Given the description of an element on the screen output the (x, y) to click on. 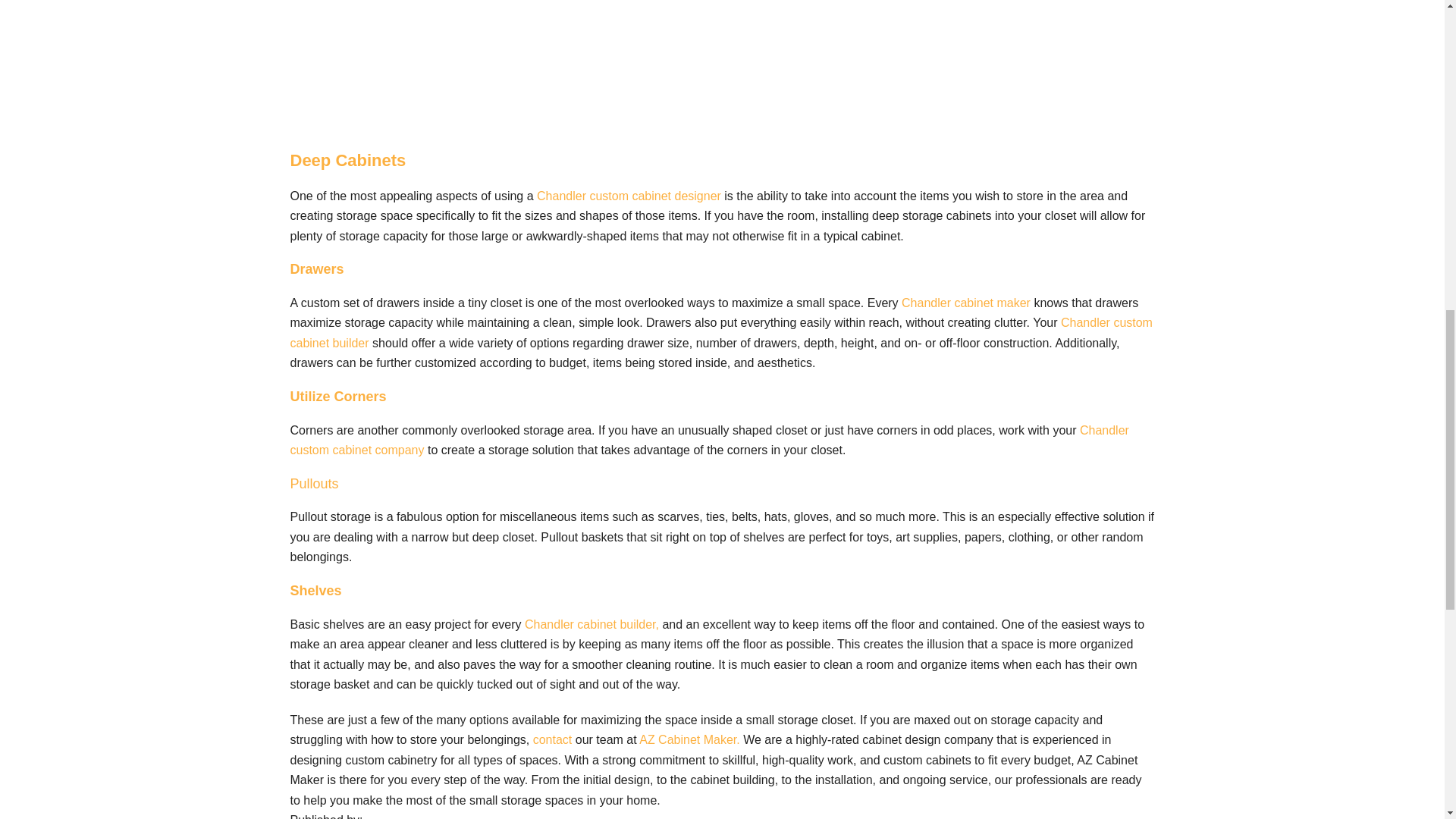
Chandler custom cabinet builder (720, 332)
contact (552, 739)
AZ Cabinet Maker. (689, 739)
Chandler cabinet builder, (591, 624)
Chandler custom cabinet designer (628, 195)
Chandler cabinet maker (965, 302)
Chandler custom cabinet company (708, 440)
